Given the description of an element on the screen output the (x, y) to click on. 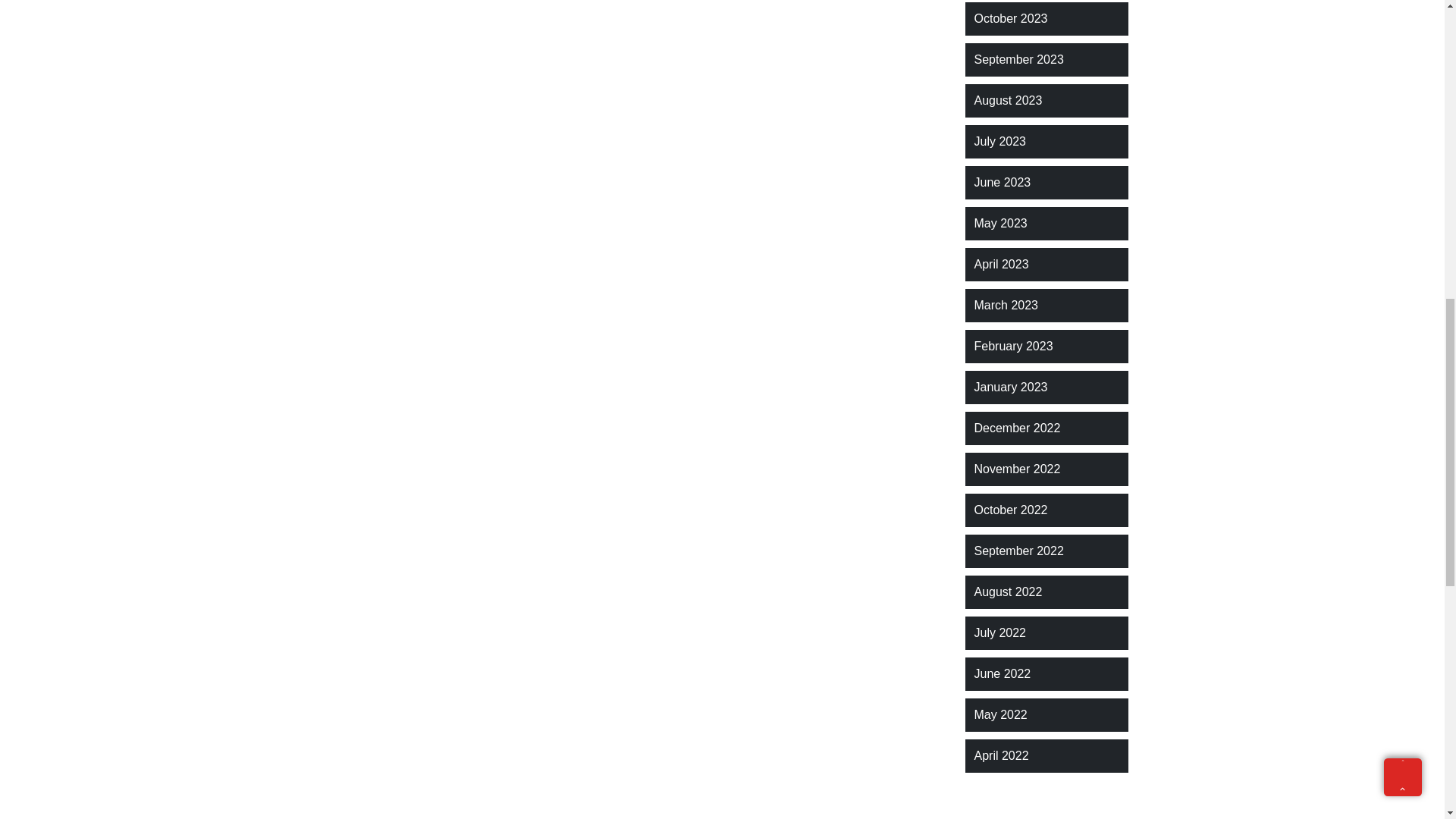
October 2022 (1010, 510)
July 2023 (1000, 141)
August 2023 (1008, 100)
June 2022 (1002, 674)
September 2022 (1018, 551)
June 2023 (1002, 182)
December 2022 (1016, 428)
February 2023 (1013, 346)
April 2022 (1000, 755)
July 2022 (1000, 633)
September 2023 (1018, 59)
April 2023 (1000, 264)
November 2022 (1016, 469)
March 2023 (1006, 305)
May 2023 (1000, 223)
